Given the description of an element on the screen output the (x, y) to click on. 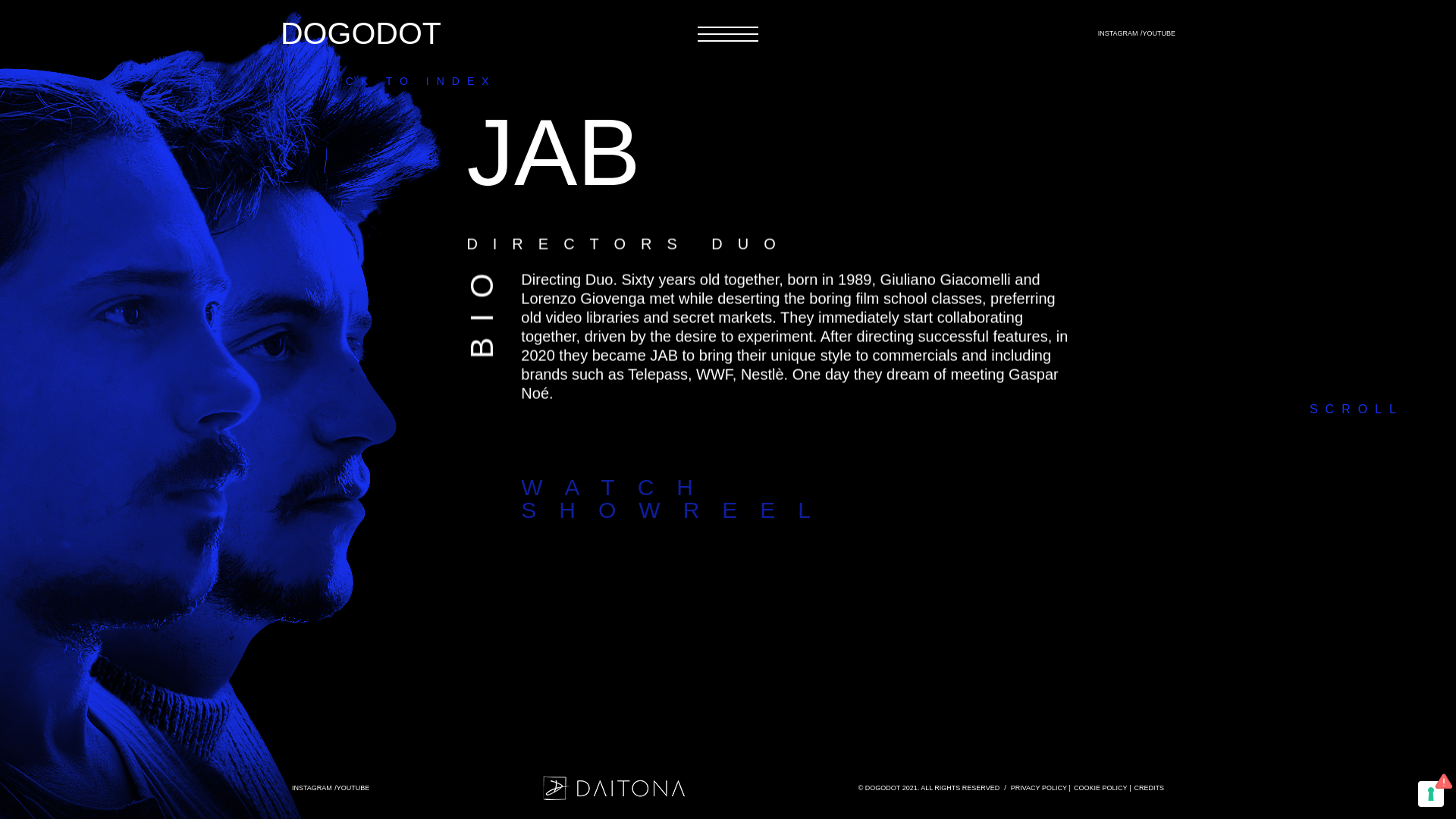
YOUTUBE (1157, 33)
COOKIE POLICY (676, 498)
PRIVACY POLICY (1100, 787)
YOUTUBE (489, 33)
CREDITS (1038, 787)
INSTAGRAM (352, 787)
INSTAGRAM (1148, 787)
SCROLL (311, 787)
